Given the description of an element on the screen output the (x, y) to click on. 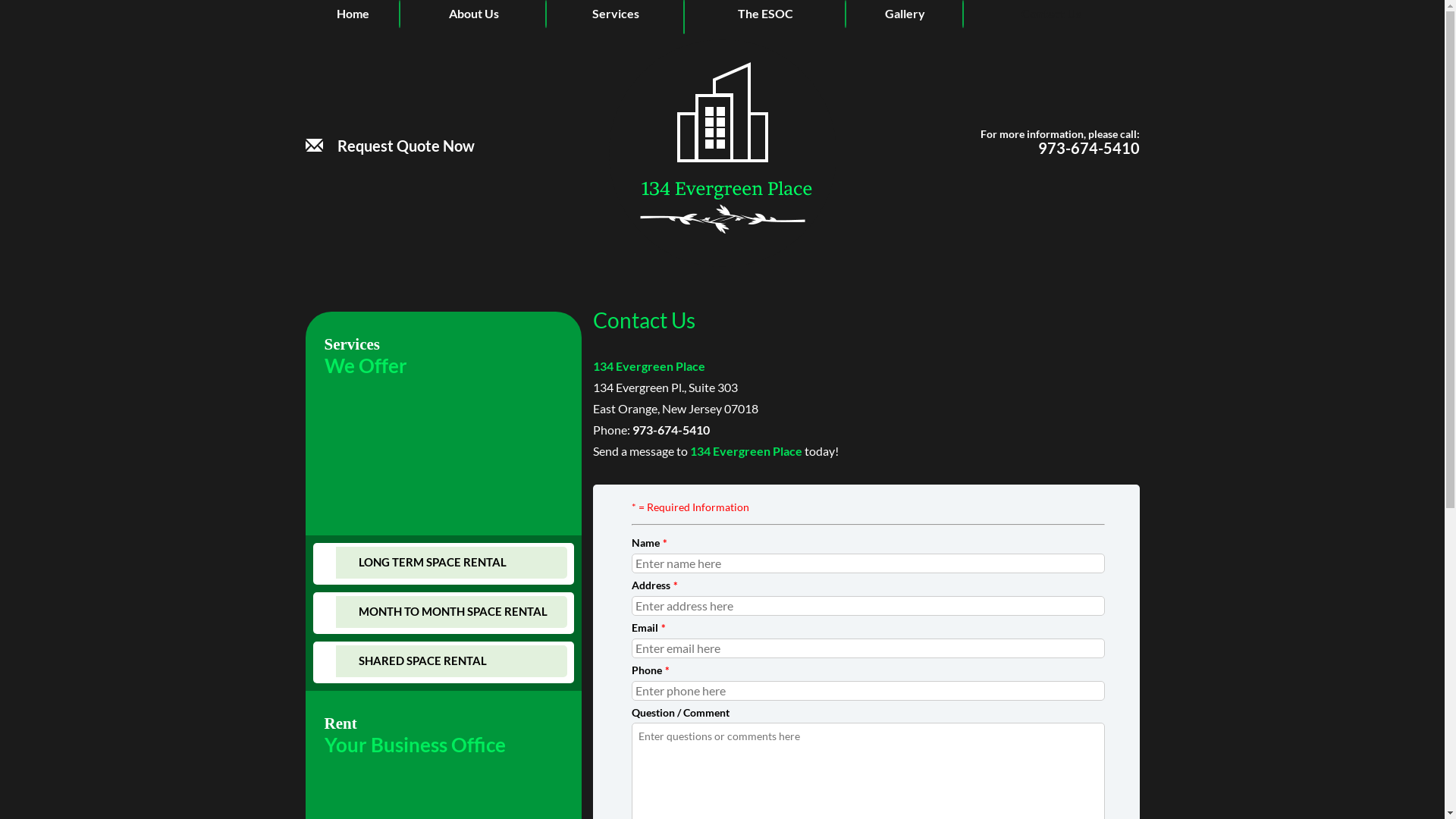
Contact Us Element type: text (1051, 13)
134 Evergreen Place Element type: hover (721, 262)
Home Element type: text (352, 13)
Services Element type: text (615, 13)
Request Quote Now Element type: text (388, 94)
MONTH TO MONTH SPACE RENTAL Element type: text (450, 611)
The ESOC Element type: text (765, 13)
About Us Element type: text (473, 13)
LONG TERM SPACE RENTAL Element type: text (450, 562)
SHARED SPACE RENTAL Element type: text (450, 661)
Gallery Element type: text (904, 13)
